Given the description of an element on the screen output the (x, y) to click on. 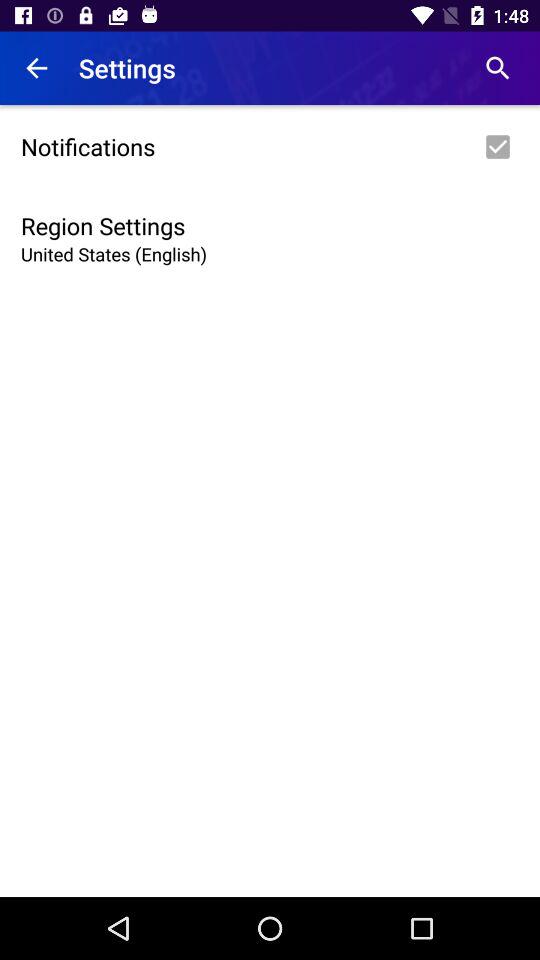
choose item next to settings (497, 67)
